Given the description of an element on the screen output the (x, y) to click on. 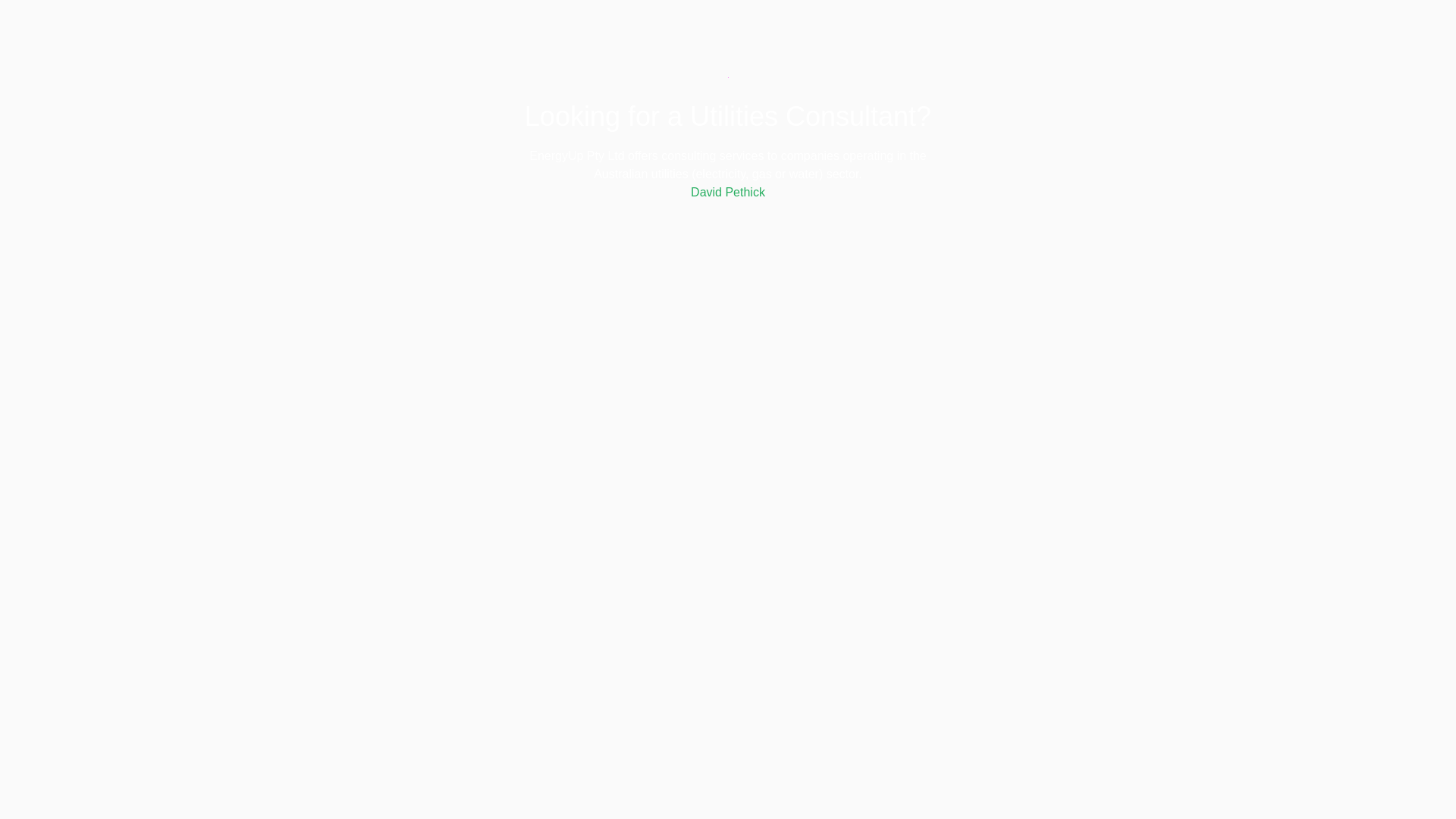
David Pethick Element type: text (727, 191)
